Given the description of an element on the screen output the (x, y) to click on. 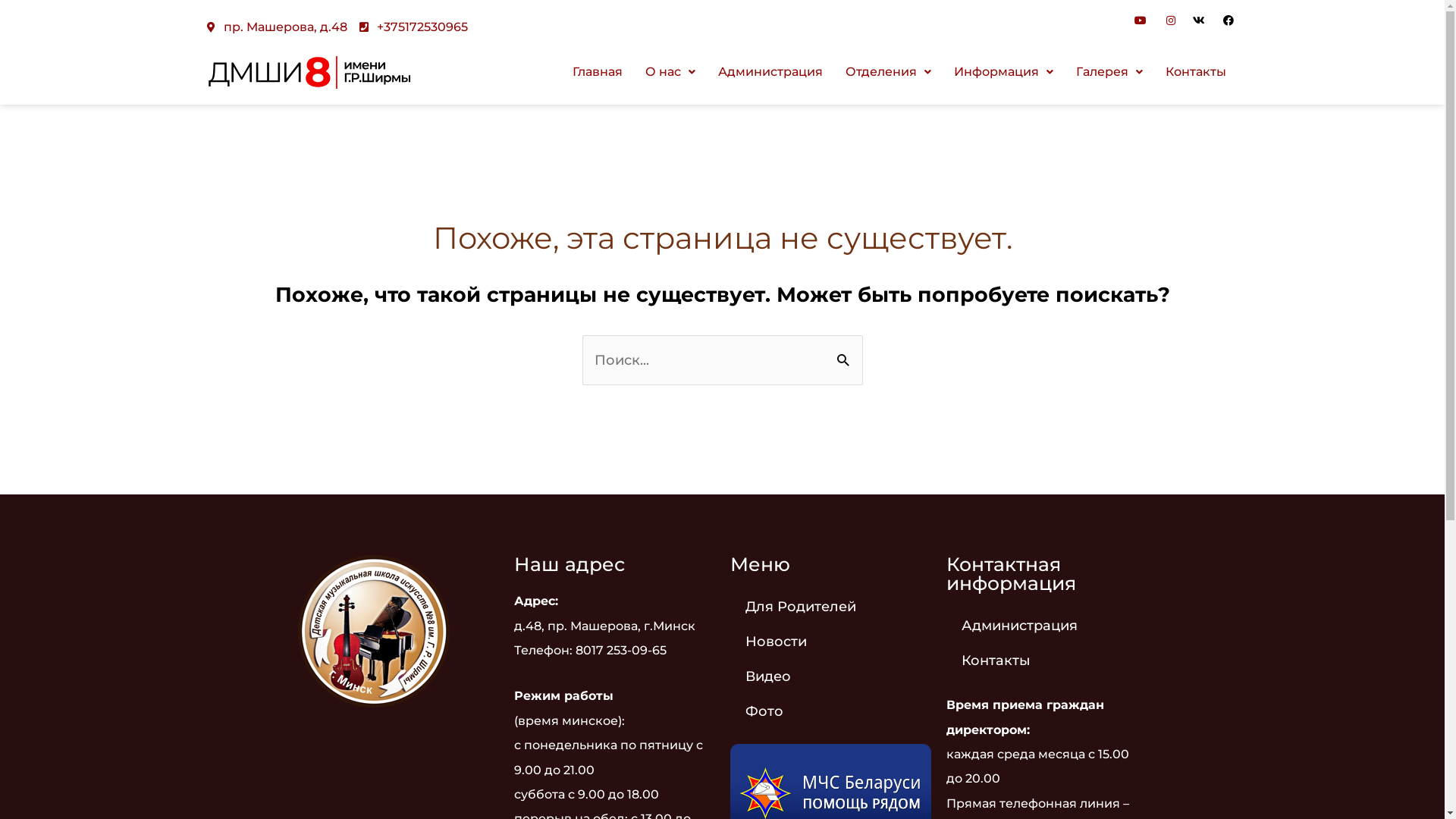
+375172530965 Element type: text (413, 27)
